Given the description of an element on the screen output the (x, y) to click on. 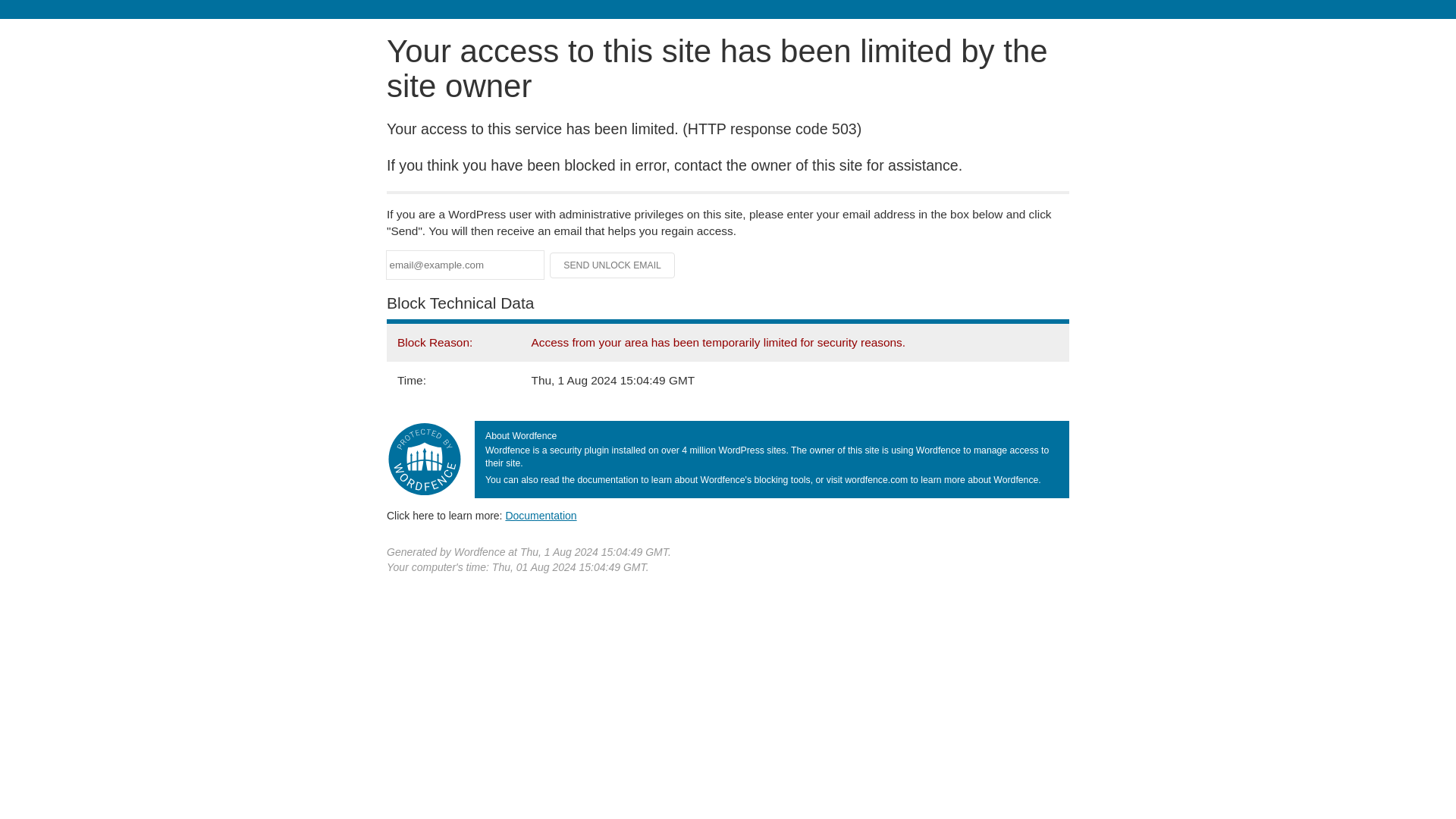
Send Unlock Email (612, 265)
Send Unlock Email (612, 265)
Documentation (540, 515)
